Given the description of an element on the screen output the (x, y) to click on. 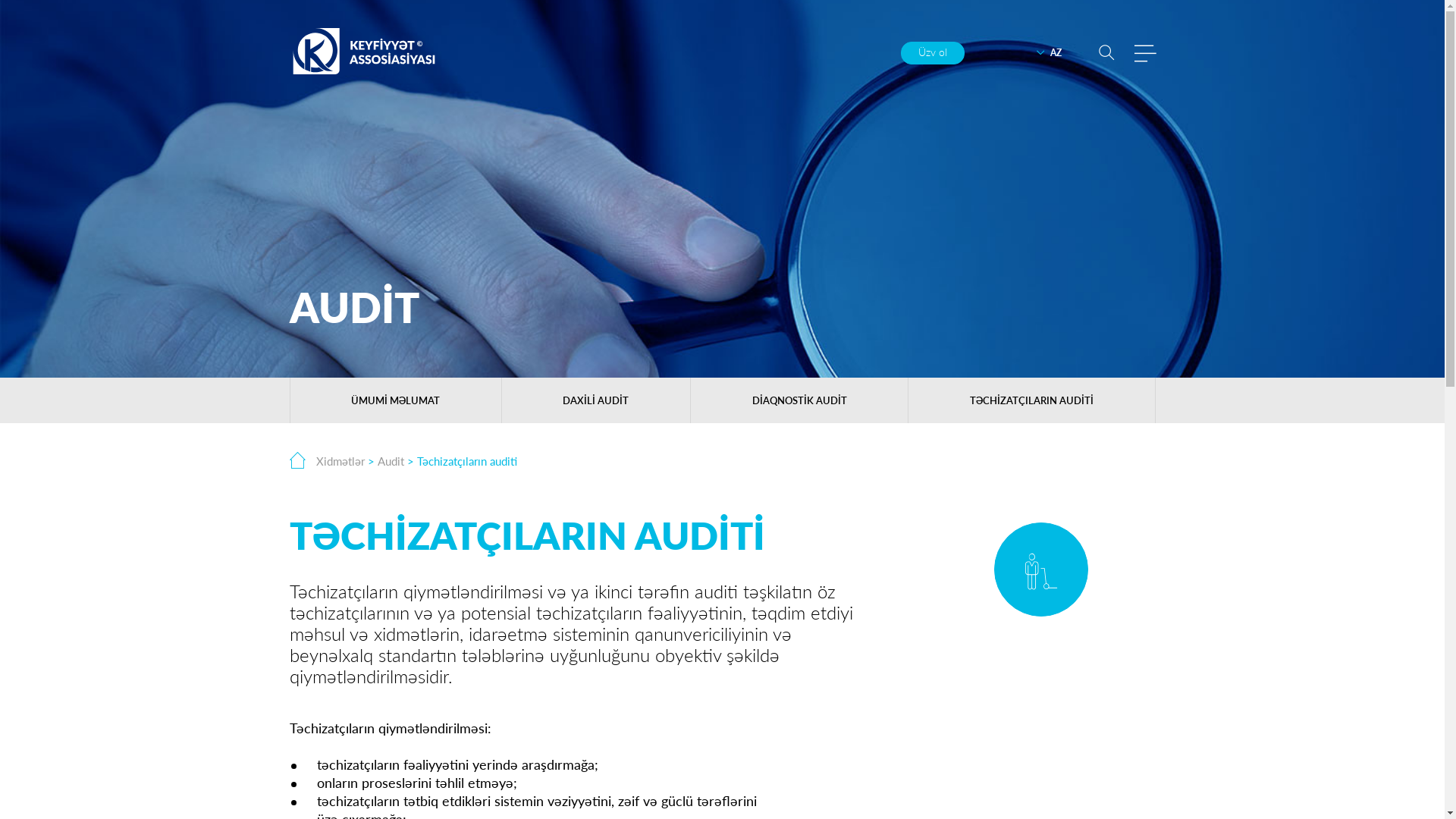
AZ Element type: text (1047, 52)
Audit Element type: text (390, 460)
DAXILI AUDIT Element type: text (596, 400)
DIAQNOSTIK AUDIT Element type: text (798, 400)
